Given the description of an element on the screen output the (x, y) to click on. 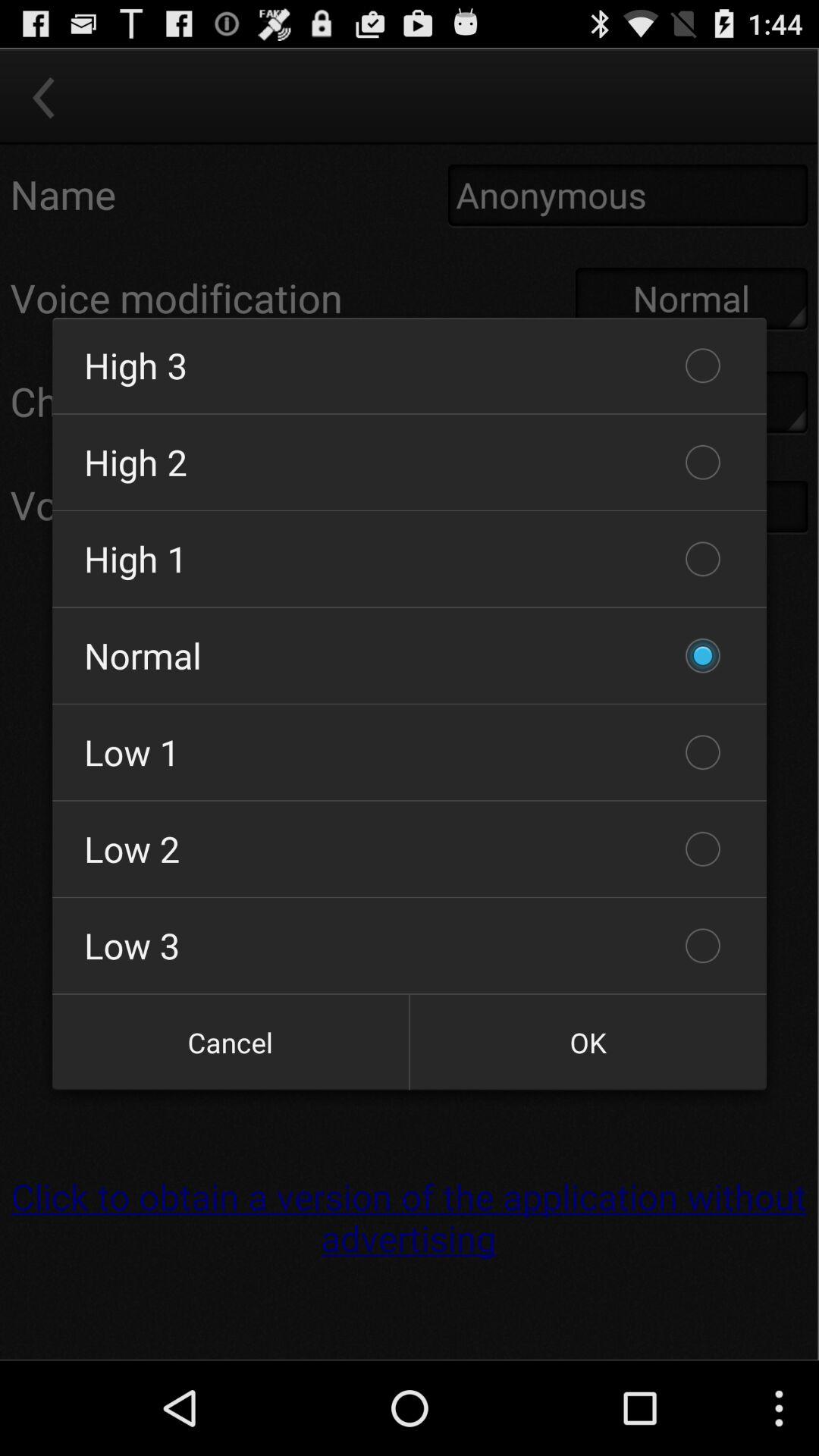
select icon below low 3 icon (588, 1042)
